Given the description of an element on the screen output the (x, y) to click on. 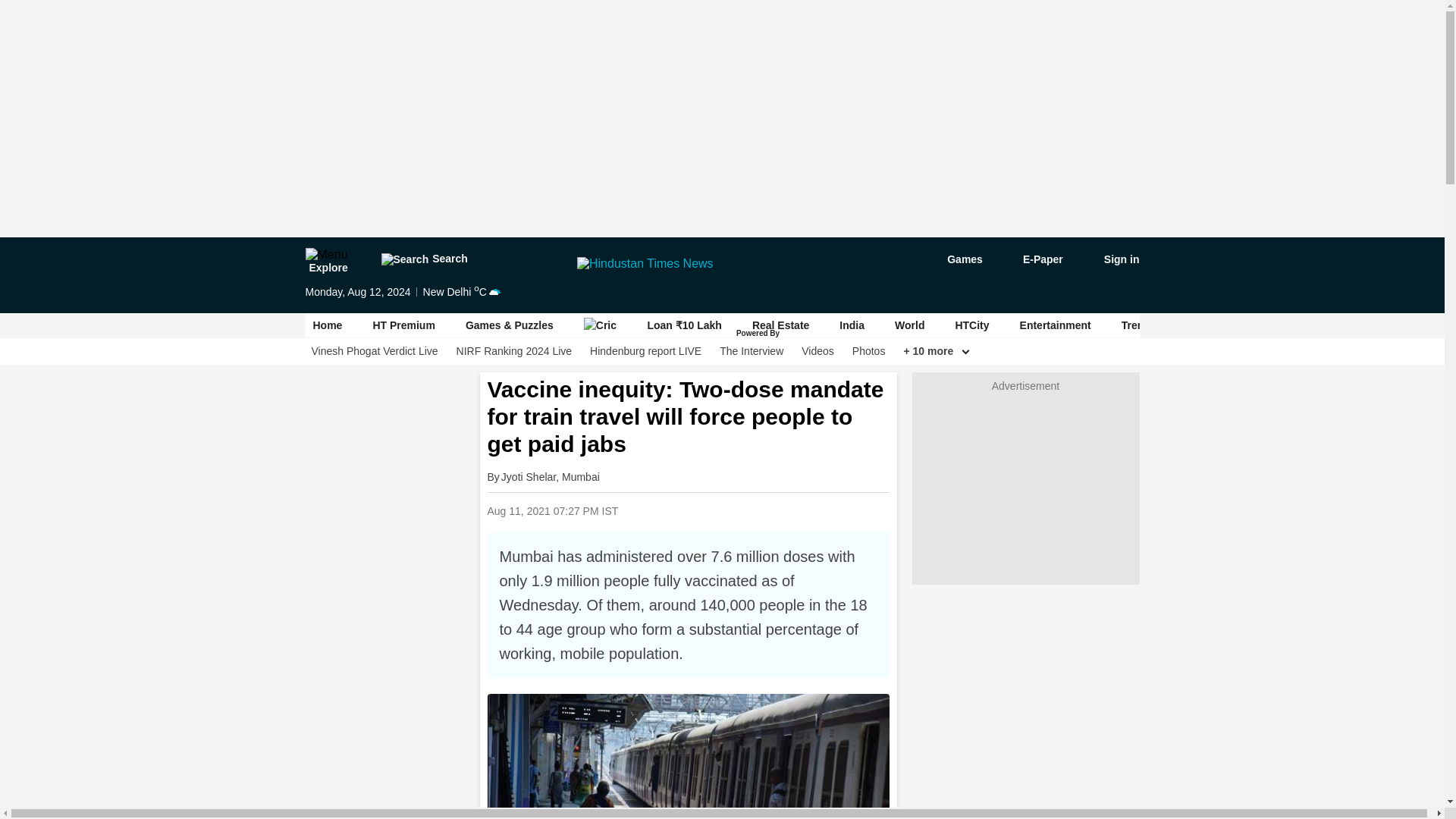
The Interview (751, 350)
Search (423, 258)
game (954, 258)
Share on Twitter (749, 510)
Vinesh Phogat Verdict Live (374, 350)
Share on Linkdin (788, 510)
Education (1374, 325)
Powered By (758, 333)
HTCity (971, 325)
epaper (1034, 258)
